Given the description of an element on the screen output the (x, y) to click on. 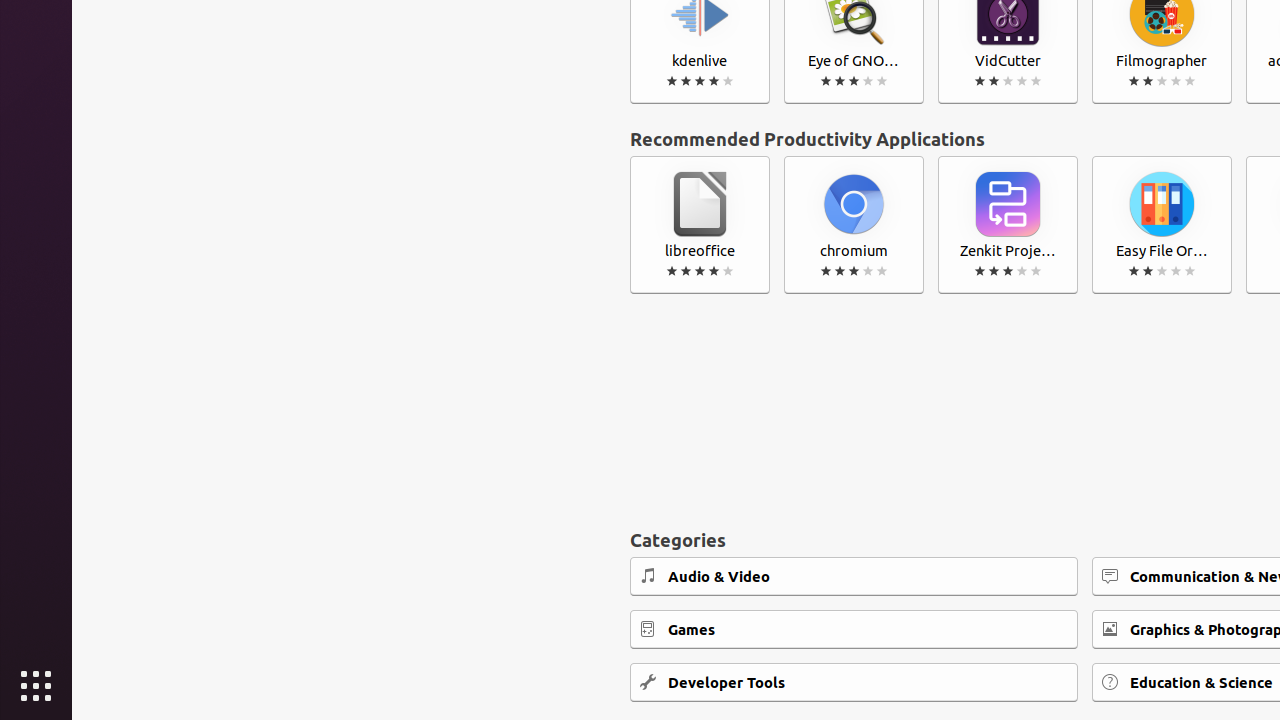
Games Element type: push-button (854, 629)
Developer Tools Element type: push-button (854, 682)
chromium Element type: push-button (854, 225)
Zenkit Projects Element type: push-button (1008, 225)
libreoffice Element type: push-button (700, 225)
